Given the description of an element on the screen output the (x, y) to click on. 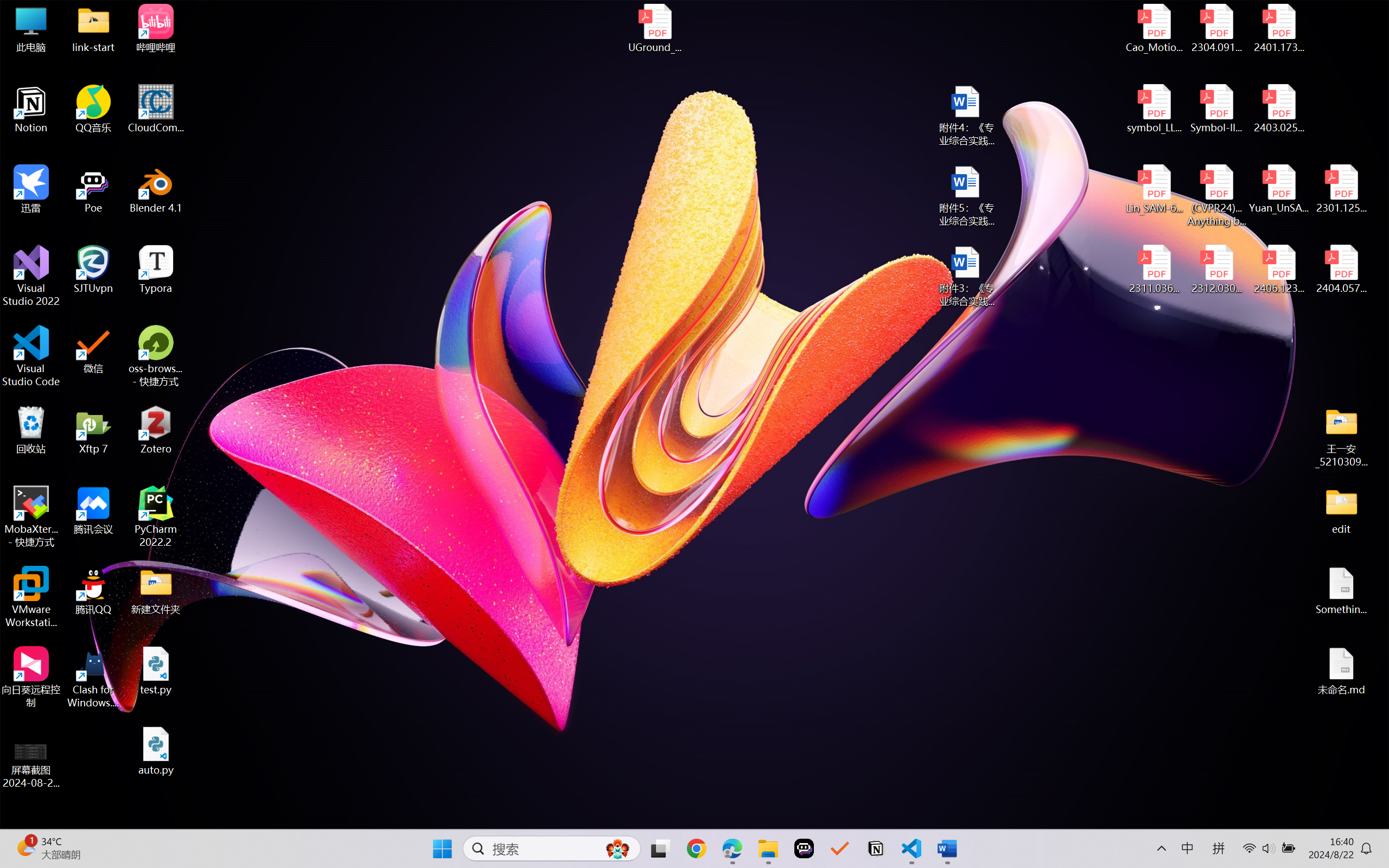
Visual Studio 2022 (31, 276)
2401.17399v1.pdf (1278, 28)
Symbol-llm-v2.pdf (1216, 109)
2312.03032v2.pdf (1216, 269)
Notion (31, 109)
2403.02502v1.pdf (1278, 109)
UGround_paper.pdf (654, 28)
PyCharm 2022.2 (156, 516)
